Given the description of an element on the screen output the (x, y) to click on. 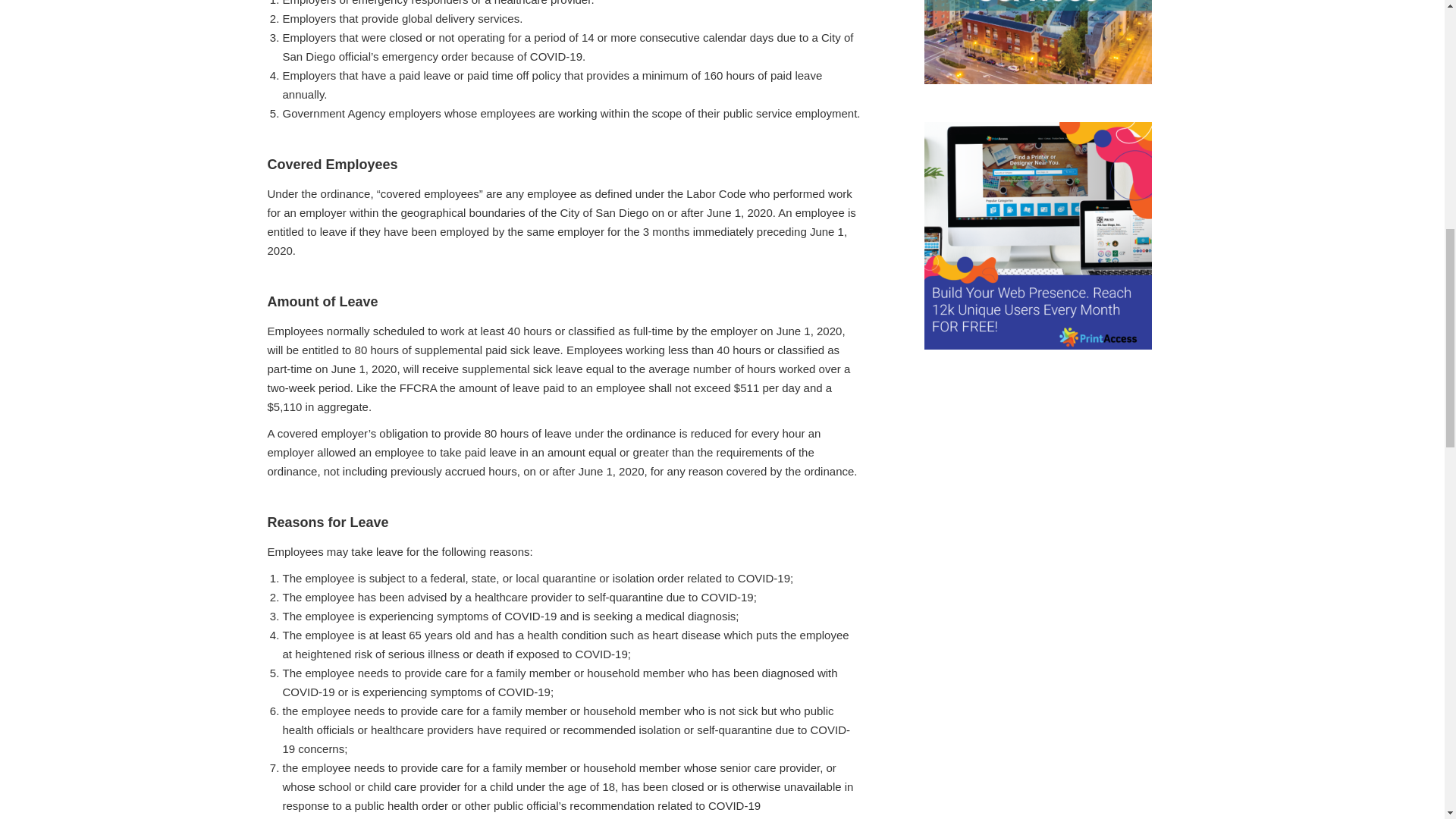
printaccess-ad (1037, 235)
insurance-services (1037, 42)
